Given the description of an element on the screen output the (x, y) to click on. 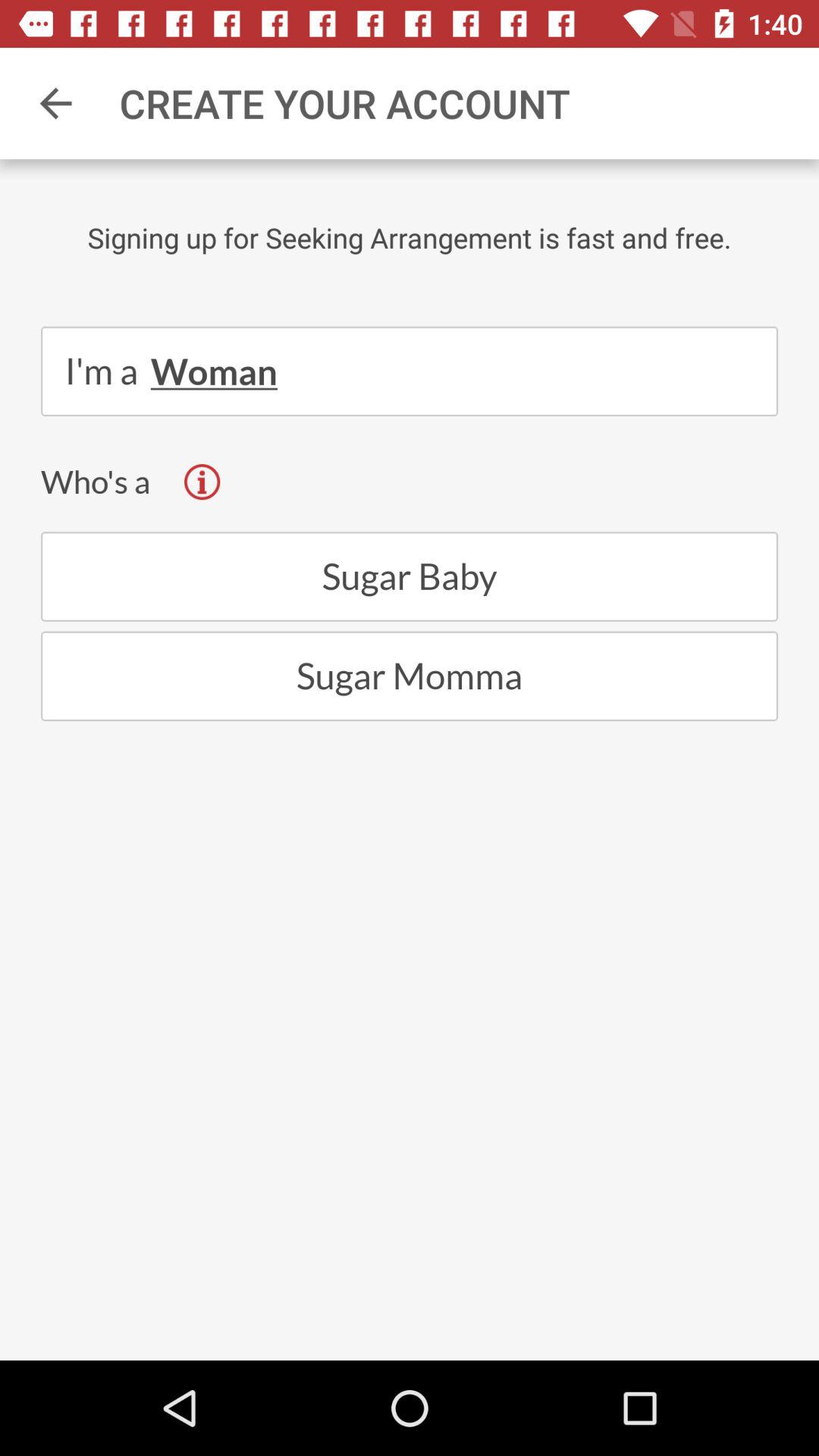
click the item above the signing up for (55, 103)
